Given the description of an element on the screen output the (x, y) to click on. 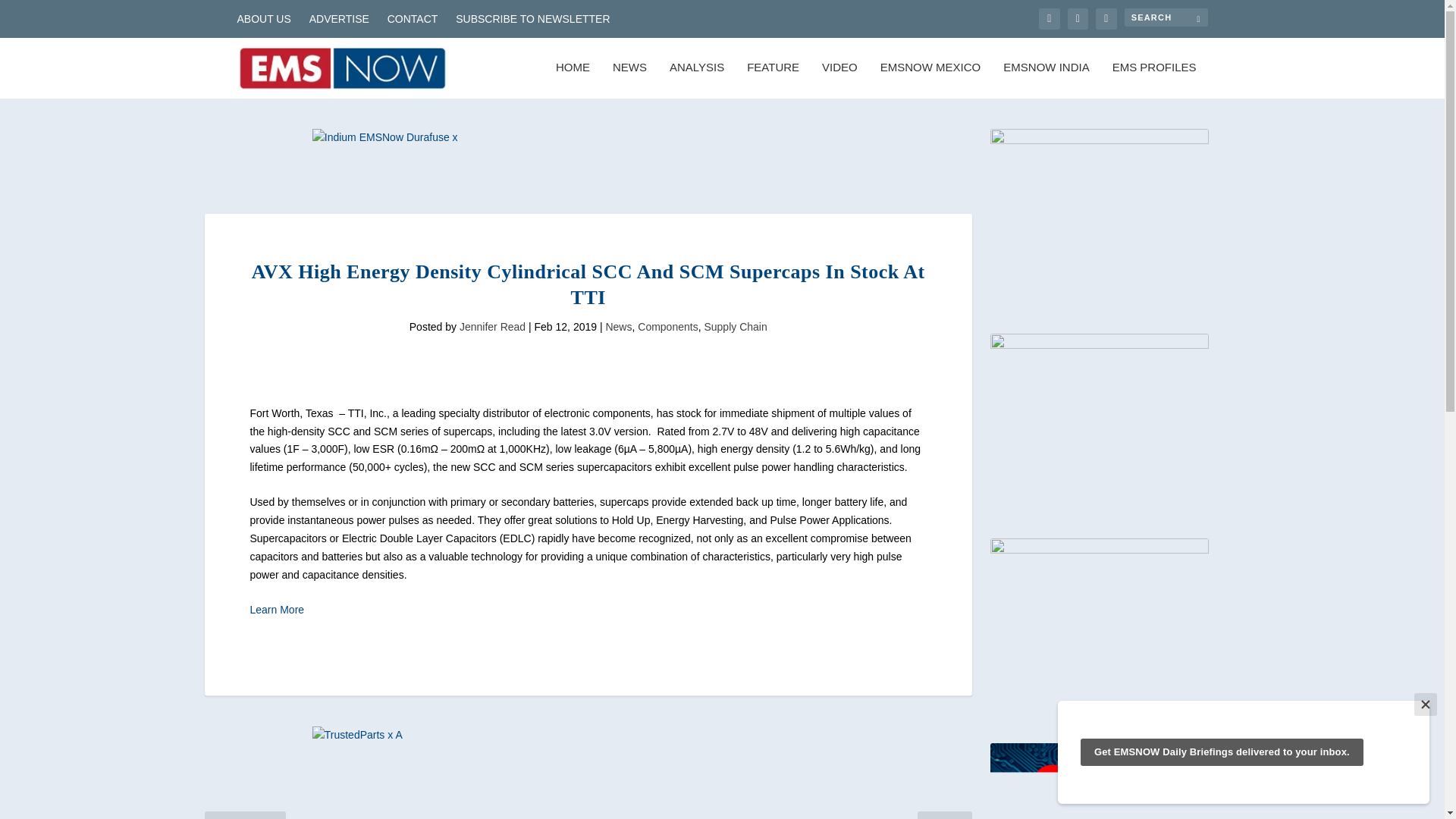
VIDEO (839, 79)
ANALYSIS (696, 79)
NEWS (629, 79)
News (618, 326)
Jennifer Read (492, 326)
Search for: (1165, 17)
ADVERTISE (338, 18)
EMSNOW MEXICO (930, 79)
Supply Chain (735, 326)
HOME (572, 79)
EMSNOW INDIA (1046, 79)
Posts by Jennifer Read (492, 326)
SUBSCRIBE TO NEWSLETTER (532, 18)
FEATURE (772, 79)
Learn More (277, 609)
